Given the description of an element on the screen output the (x, y) to click on. 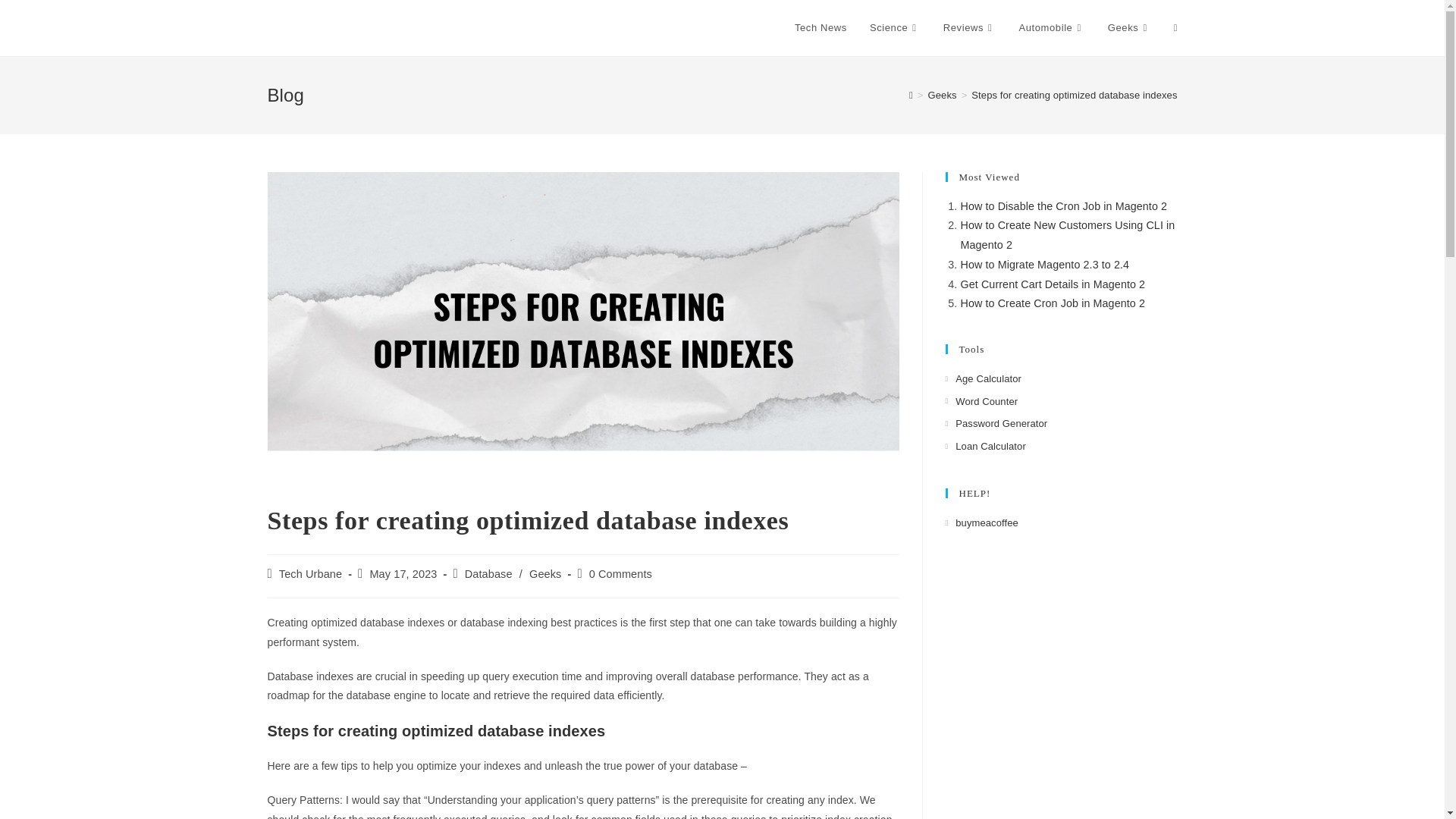
Geeks (1128, 28)
Tech News (821, 28)
Posts by Tech Urbane (310, 573)
Toggle website search (1175, 28)
Automobile (1051, 28)
Science (895, 28)
Reviews (969, 28)
